Given the description of an element on the screen output the (x, y) to click on. 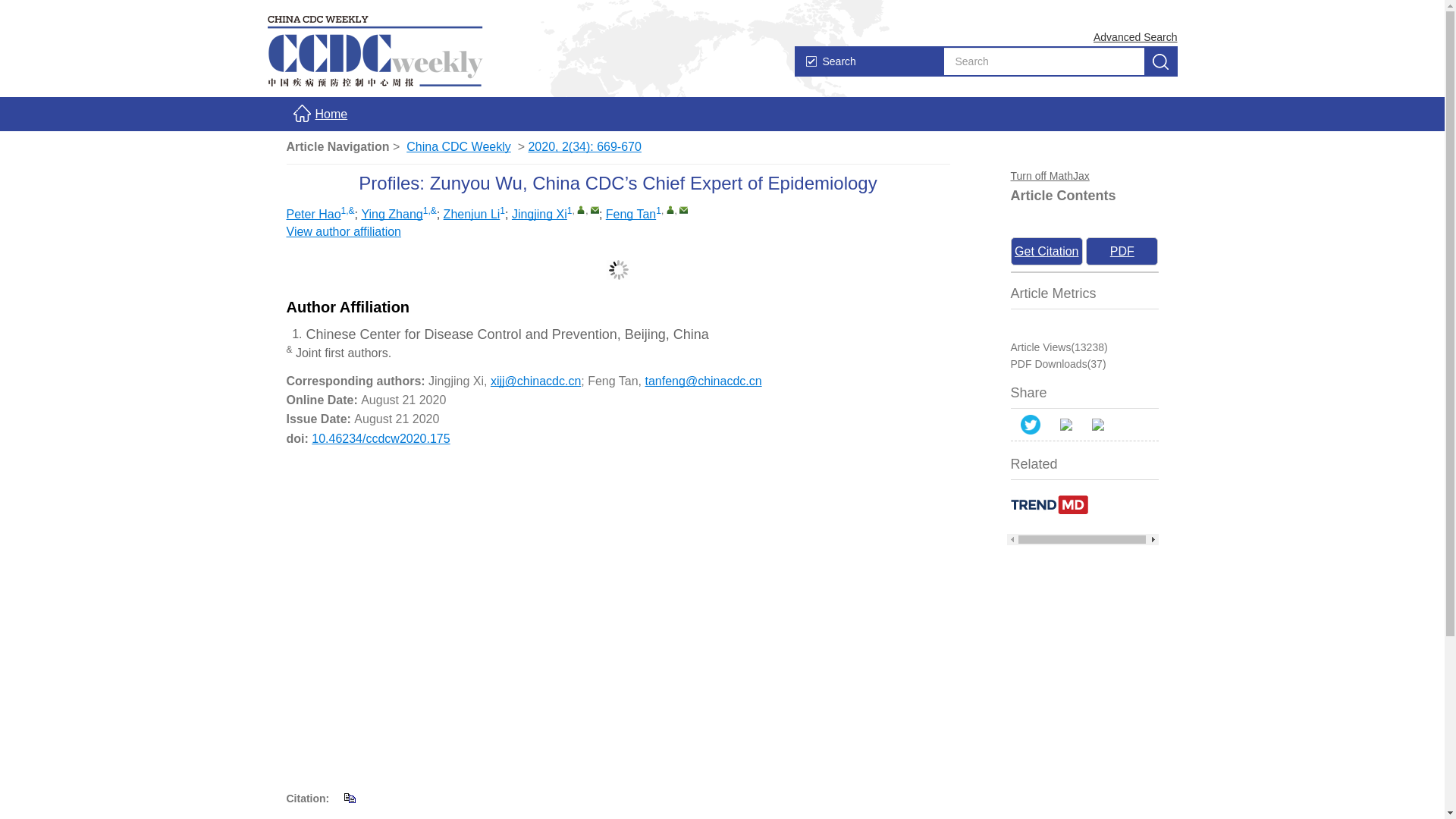
Advanced Search (1135, 36)
MMWR (810, 61)
Home (313, 114)
share this content in sina (1097, 424)
share this content in twitter (1029, 424)
copy to clipboard (348, 797)
share this content in WeChat (1065, 424)
